Given the description of an element on the screen output the (x, y) to click on. 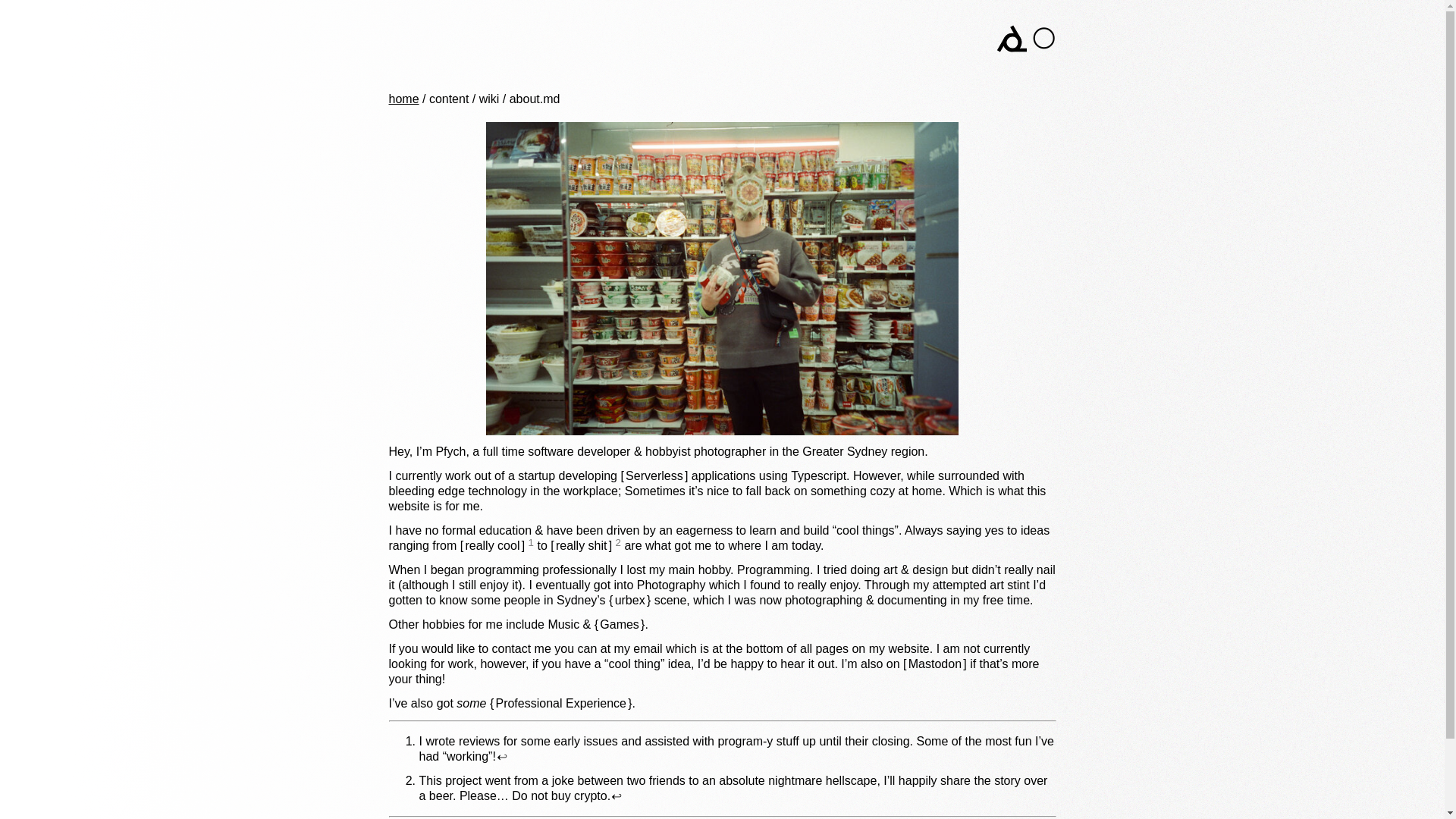
Serverless (653, 475)
Games (619, 624)
really shit (580, 545)
home (403, 98)
Professional Experience (560, 703)
really cool (492, 545)
Mastodon (934, 663)
Change theme (1043, 37)
urbex (629, 599)
pfy.ch (440, 35)
